Given the description of an element on the screen output the (x, y) to click on. 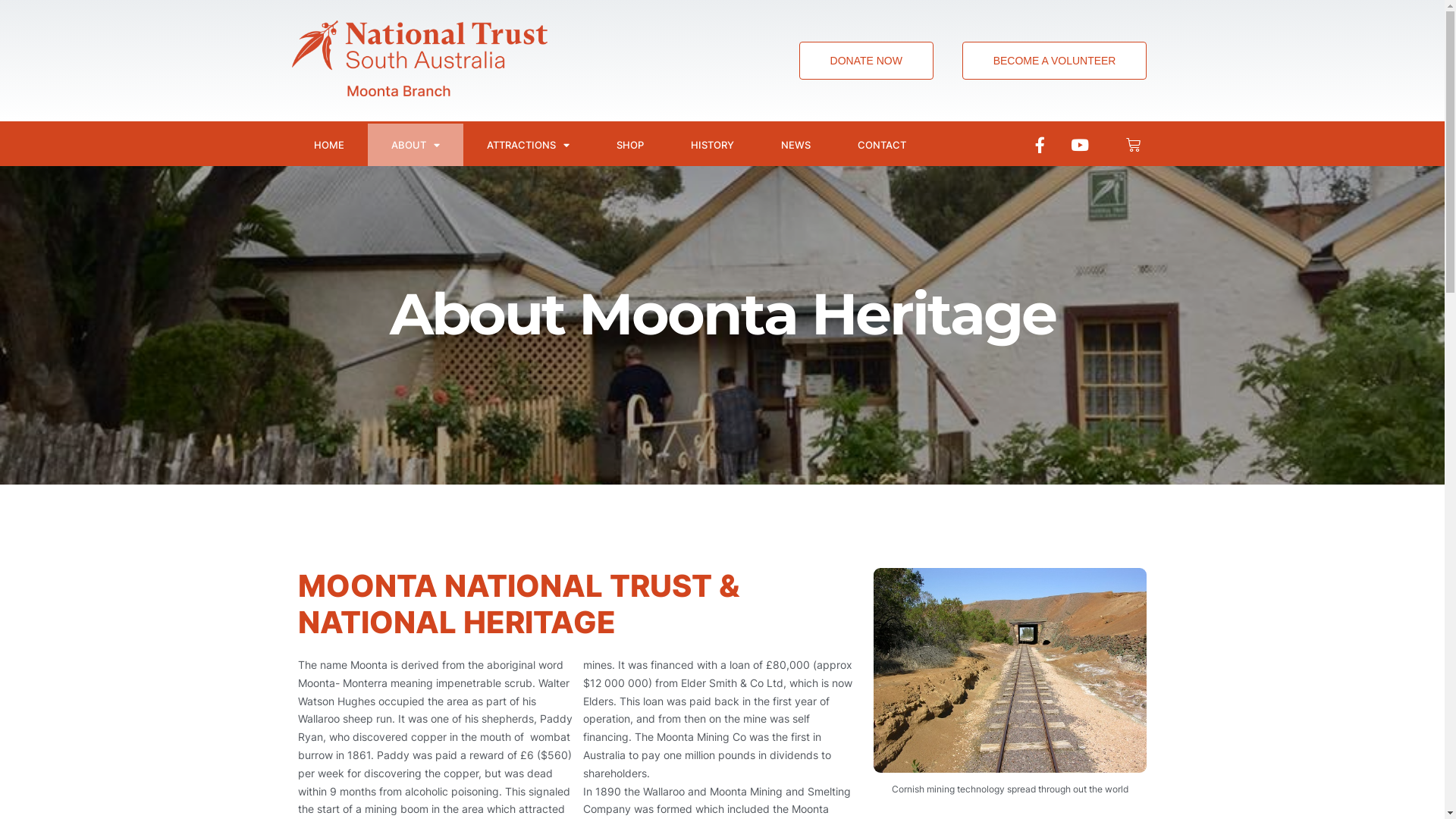
DONATE NOW Element type: text (866, 60)
ATTRACTIONS Element type: text (527, 144)
NEWS Element type: text (794, 144)
HOME Element type: text (328, 144)
Facebook-f Element type: text (1039, 144)
Youtube Element type: text (1079, 144)
SHOP Element type: text (630, 144)
CONTACT Element type: text (881, 144)
ABOUT Element type: text (414, 144)
BECOME A VOLUNTEER Element type: text (1054, 60)
HISTORY Element type: text (712, 144)
CART Element type: text (1132, 144)
